Given the description of an element on the screen output the (x, y) to click on. 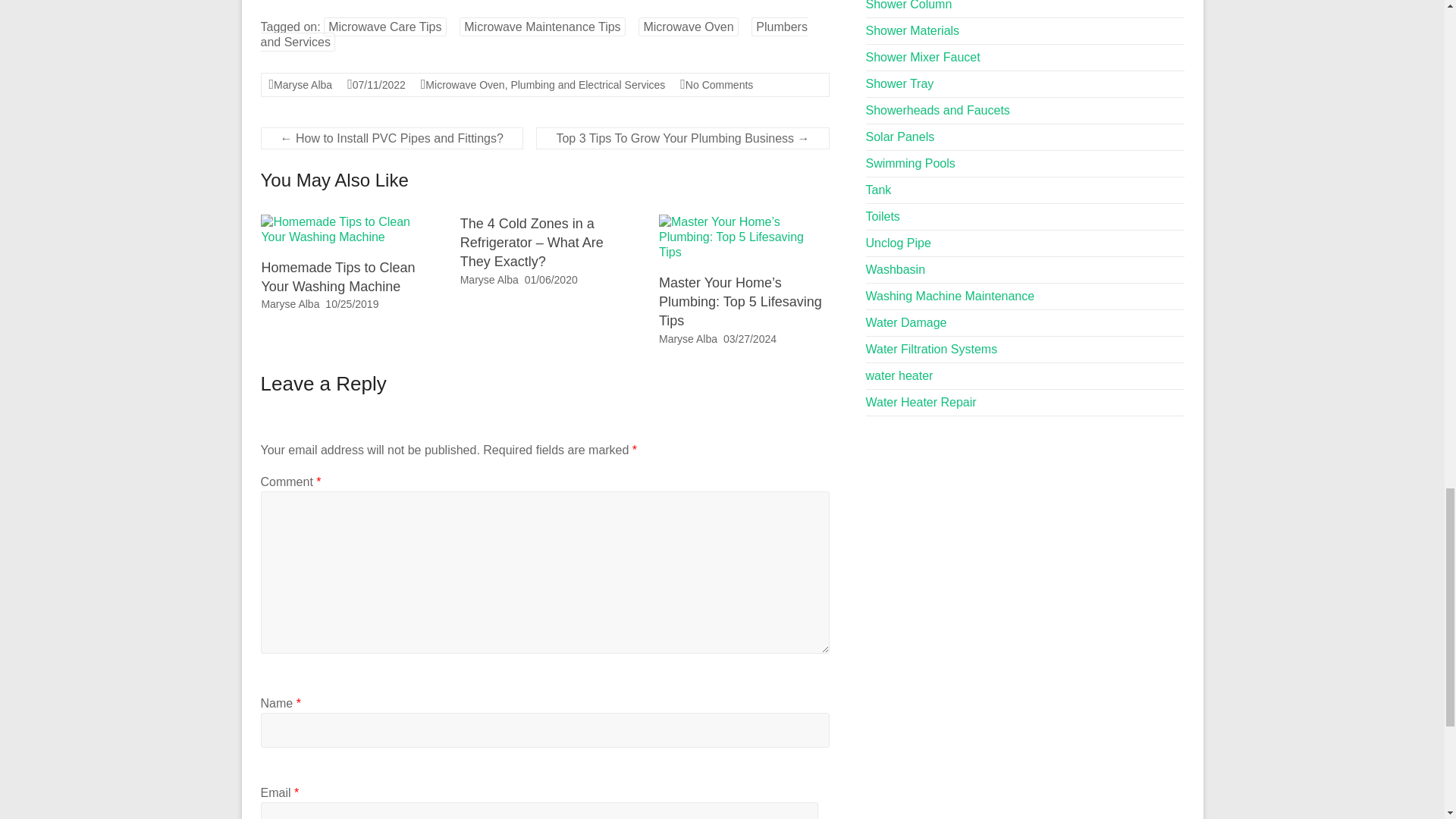
Homemade Tips to Clean Your Washing Machine (345, 229)
Maryse Alba (289, 304)
Maryse Alba (302, 84)
07:22 (379, 84)
Microwave Maintenance Tips (542, 26)
10:09 (749, 338)
14:19 (351, 304)
Microwave Care Tips (384, 26)
Microwave Oven (464, 84)
Maryse Alba (489, 279)
No Comments (718, 84)
Plumbing and Electrical Services (588, 84)
Microwave Oven (688, 26)
Homemade Tips to Clean Your Washing Machine (345, 221)
Maryse Alba (688, 338)
